Given the description of an element on the screen output the (x, y) to click on. 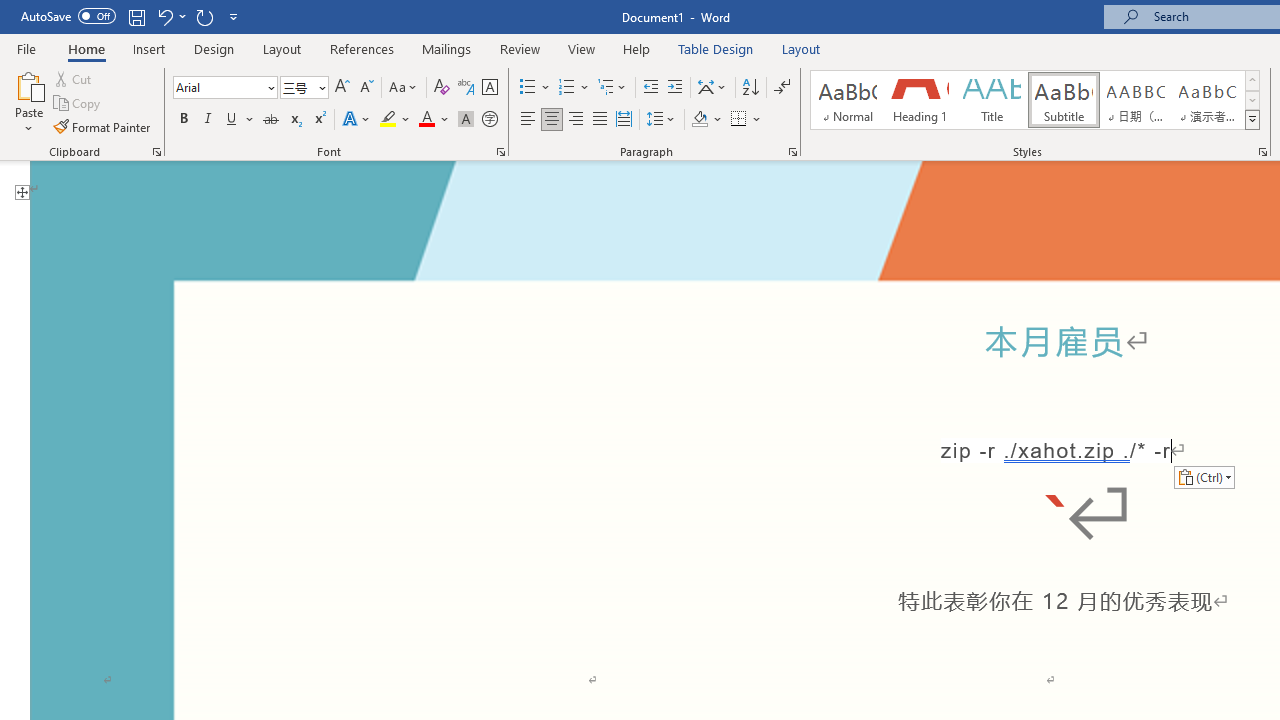
Font Color (434, 119)
Format Painter (103, 126)
Distributed (623, 119)
Character Border (489, 87)
Shading (706, 119)
Clear Formatting (442, 87)
Text Highlight Color Yellow (388, 119)
Shading RGB(0, 0, 0) (699, 119)
Phonetic Guide... (465, 87)
